Given the description of an element on the screen output the (x, y) to click on. 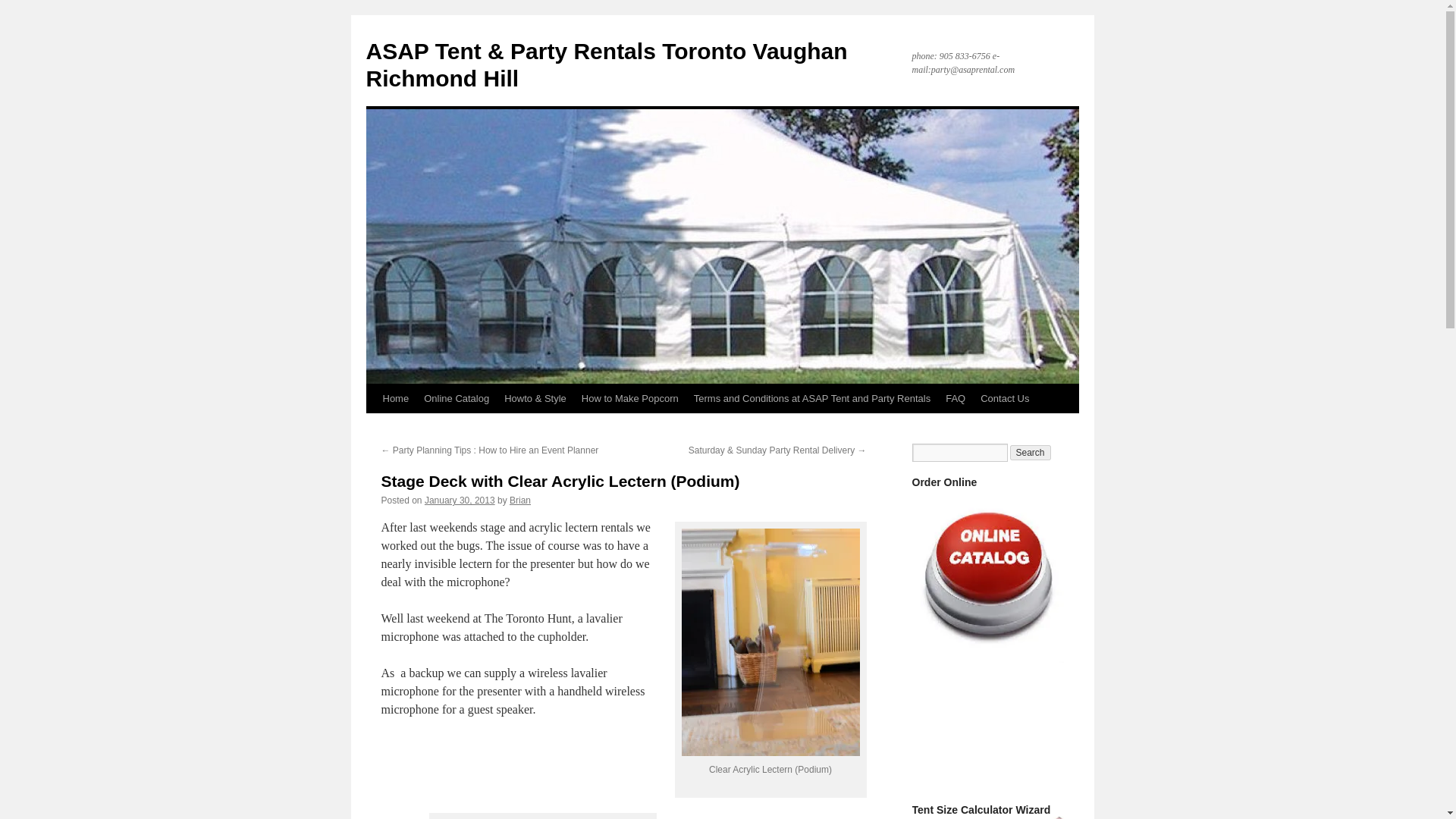
View all posts by Brian (520, 500)
Online Catalog (456, 398)
Brian (520, 500)
Terms and Conditions at ASAP Tent and Party Rentals (811, 398)
4:20 PM (460, 500)
How to Make Popcorn (629, 398)
Products (456, 398)
January 30, 2013 (460, 500)
Home (395, 398)
Contact Us (1004, 398)
Search (1030, 452)
FAQ (954, 398)
